Given the description of an element on the screen output the (x, y) to click on. 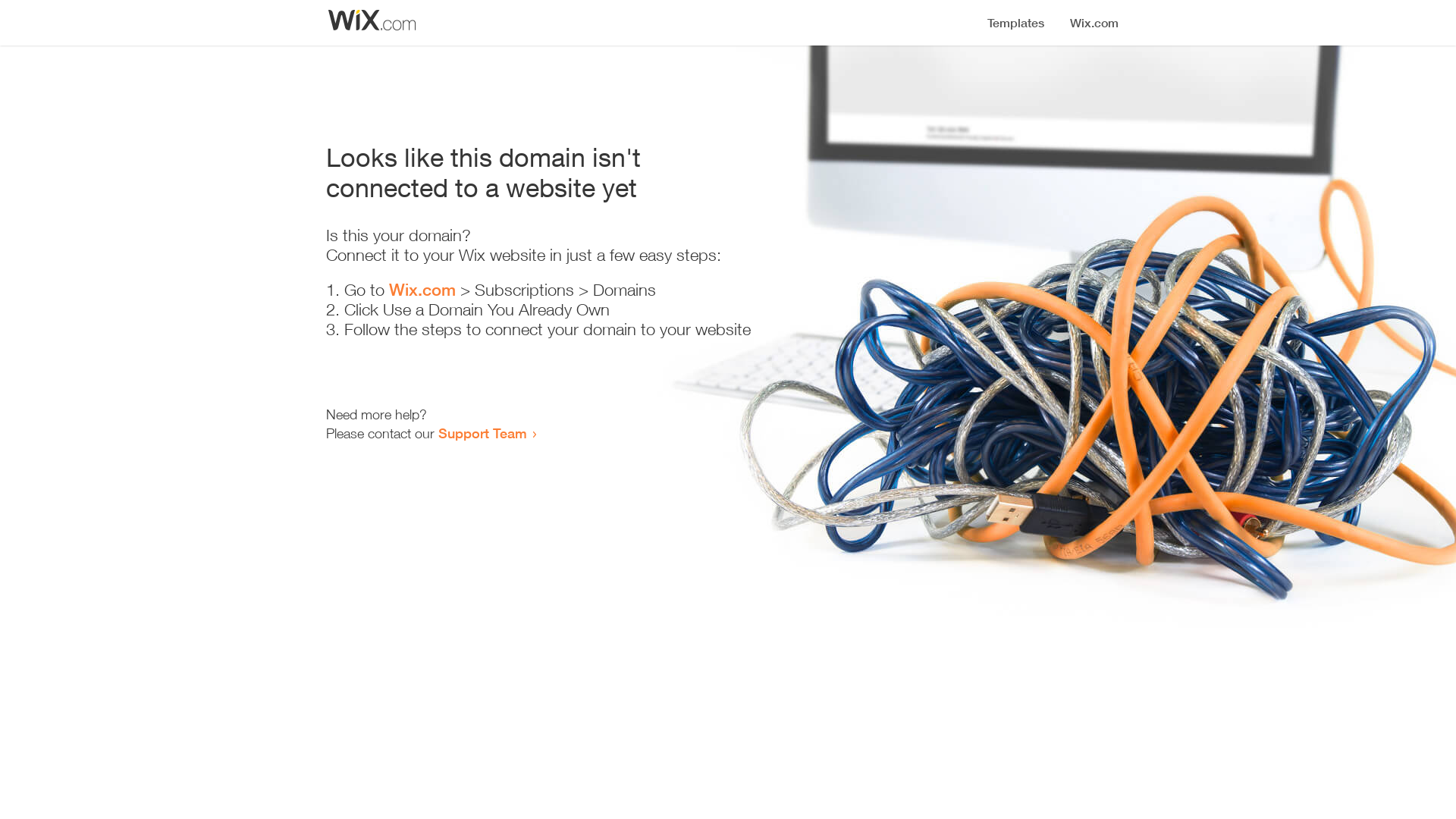
Support Team Element type: text (482, 432)
Wix.com Element type: text (422, 289)
